Given the description of an element on the screen output the (x, y) to click on. 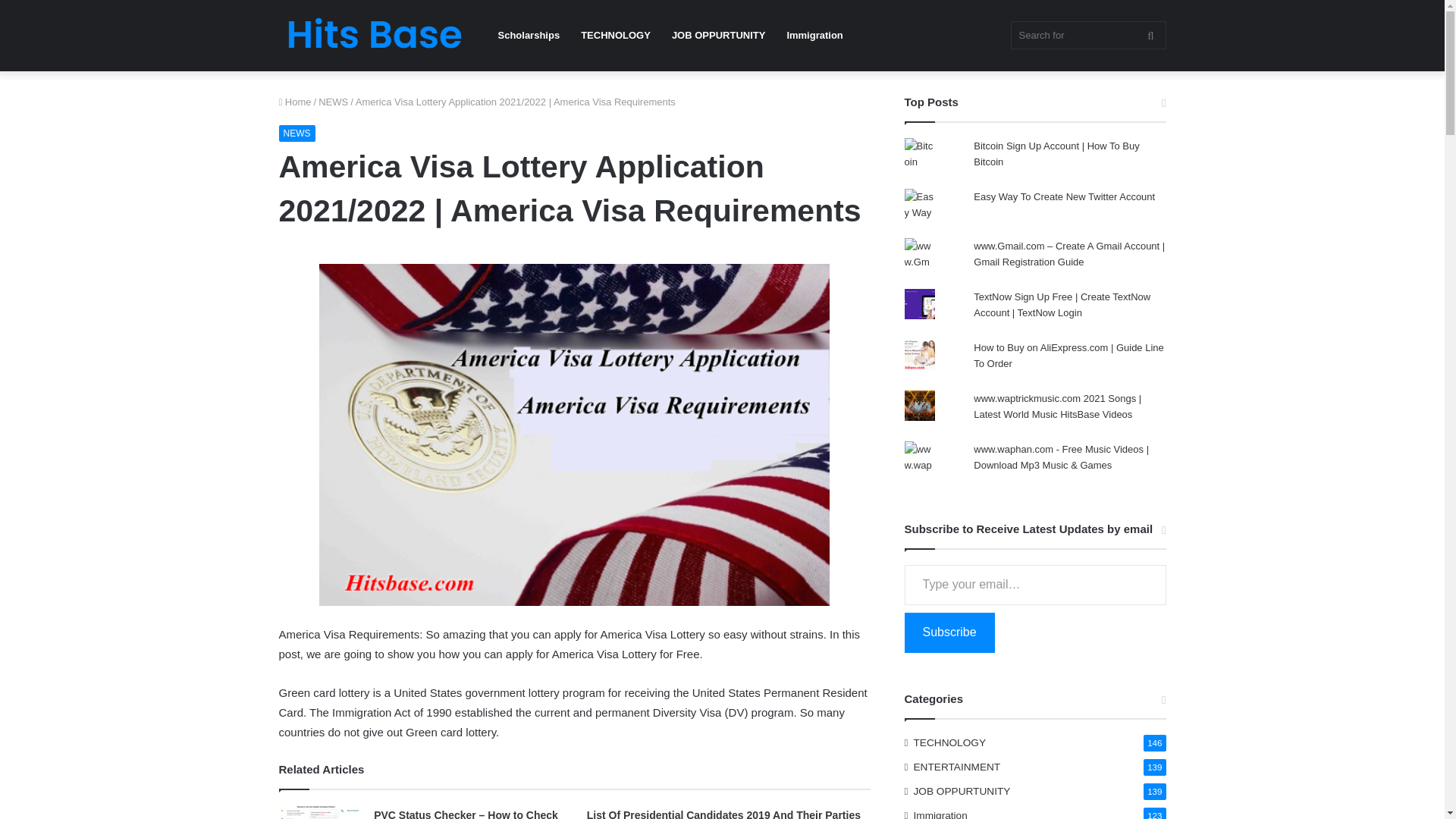
Scholarships (528, 35)
NEWS (332, 101)
Hits Base (373, 35)
Home (295, 101)
TECHNOLOGY (615, 35)
NEWS (297, 133)
JOB OPPURTUNITY (718, 35)
Immigration (814, 35)
Search for (1088, 35)
List Of Presidential Candidates 2019 And Their Parties (723, 814)
